Given the description of an element on the screen output the (x, y) to click on. 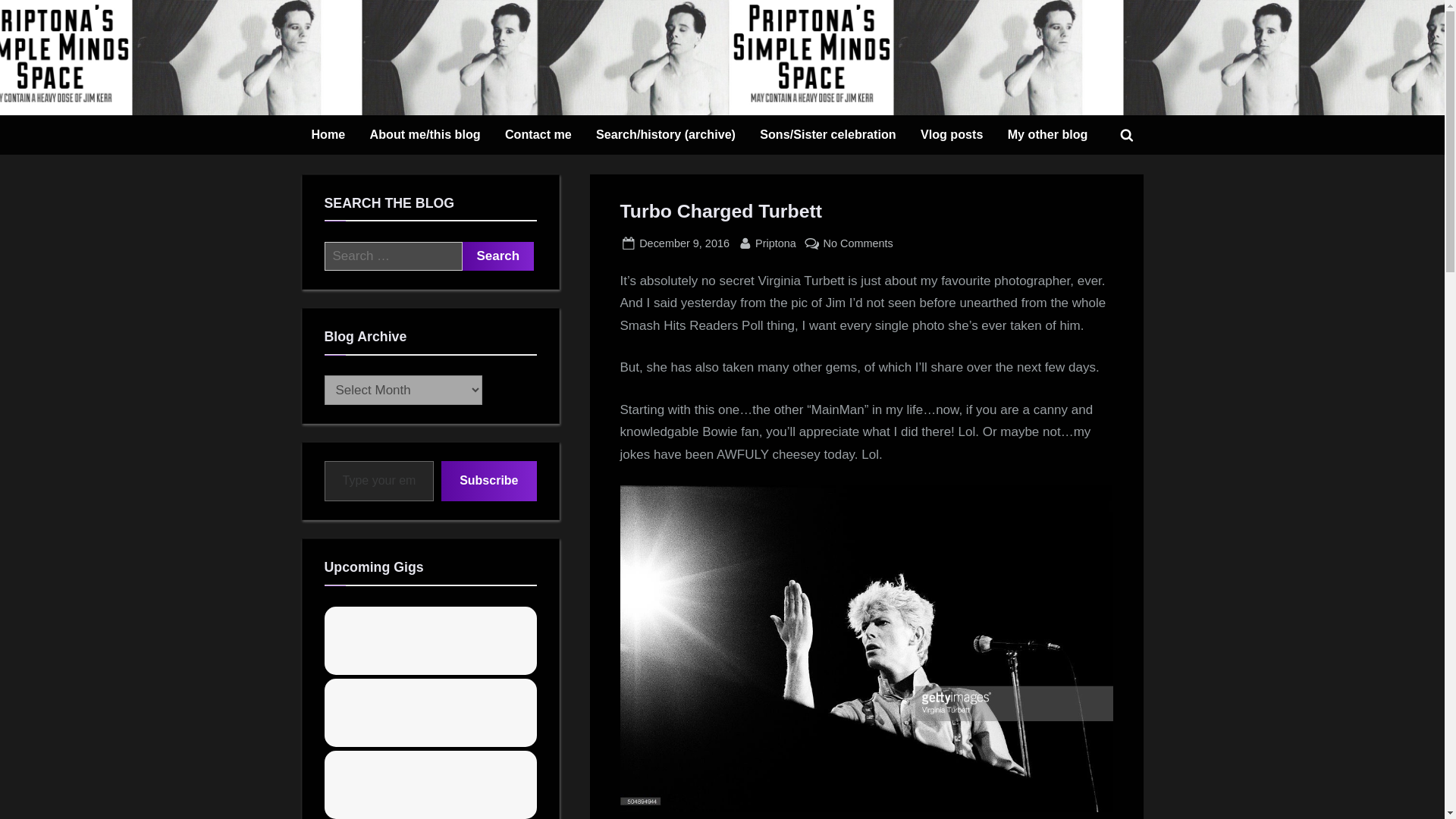
Subscribe (488, 481)
My other blog (1047, 134)
Search (775, 243)
Search (498, 256)
Search (498, 256)
Vlog posts (498, 256)
Contact me (951, 134)
